Given the description of an element on the screen output the (x, y) to click on. 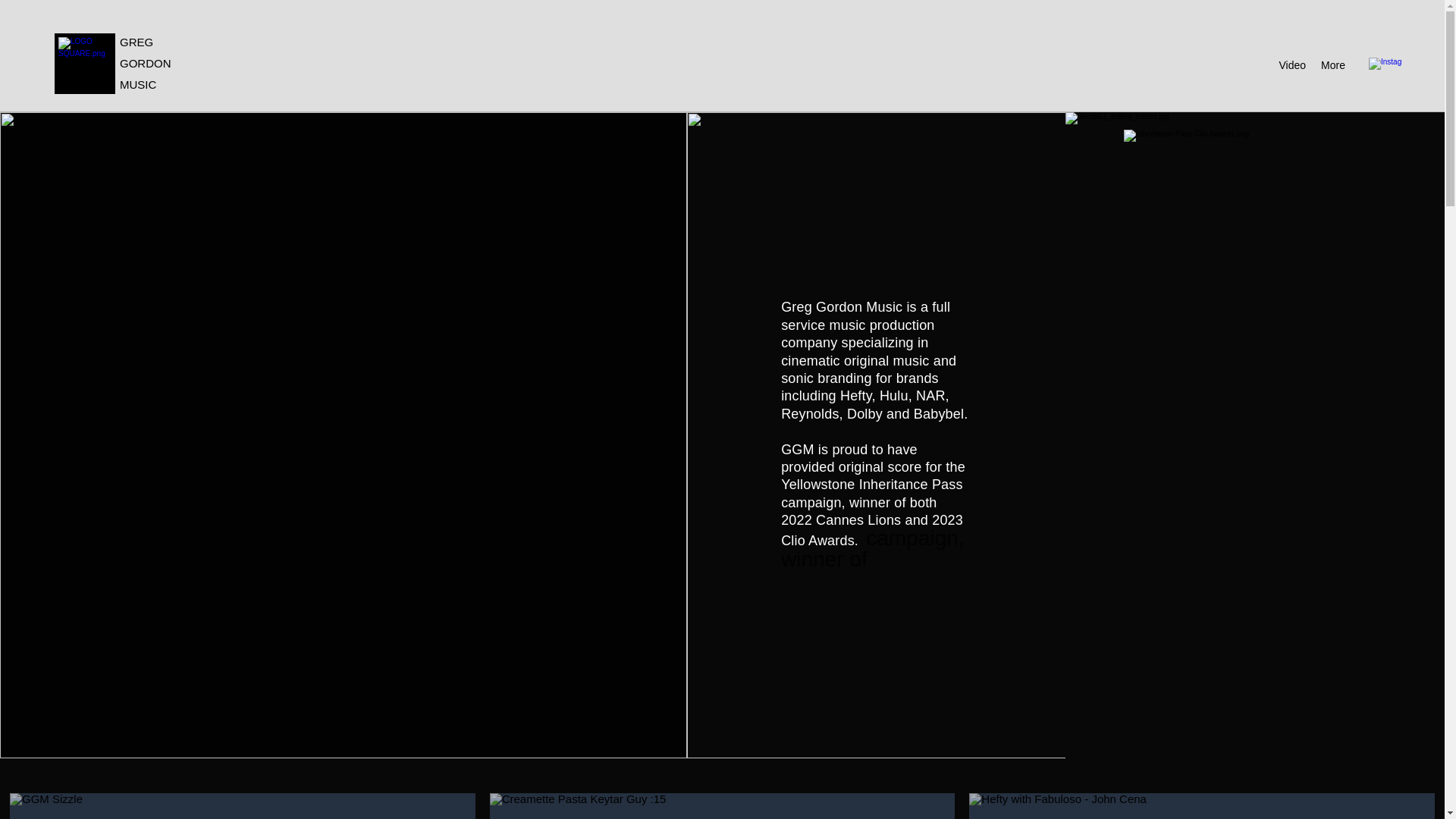
Video (1292, 65)
